Given the description of an element on the screen output the (x, y) to click on. 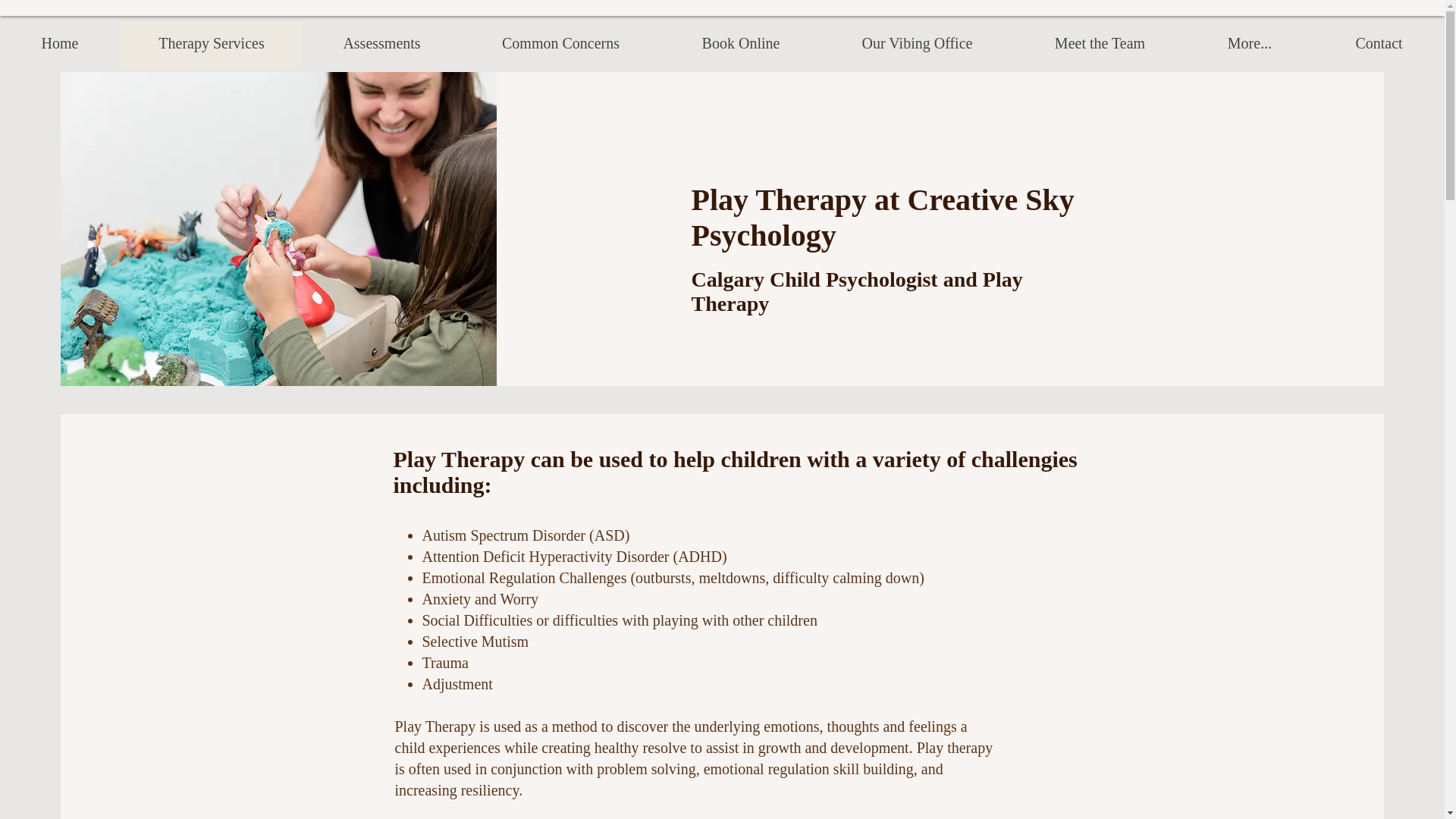
Home (59, 42)
Our Vibing Office (917, 42)
Therapy Services (210, 42)
Anxiety and Worry (480, 598)
Assessments (381, 42)
Book Online (741, 42)
Emotional Regulation Challenges (524, 577)
Common Concerns (560, 42)
Meet the Team (1099, 42)
